Given the description of an element on the screen output the (x, y) to click on. 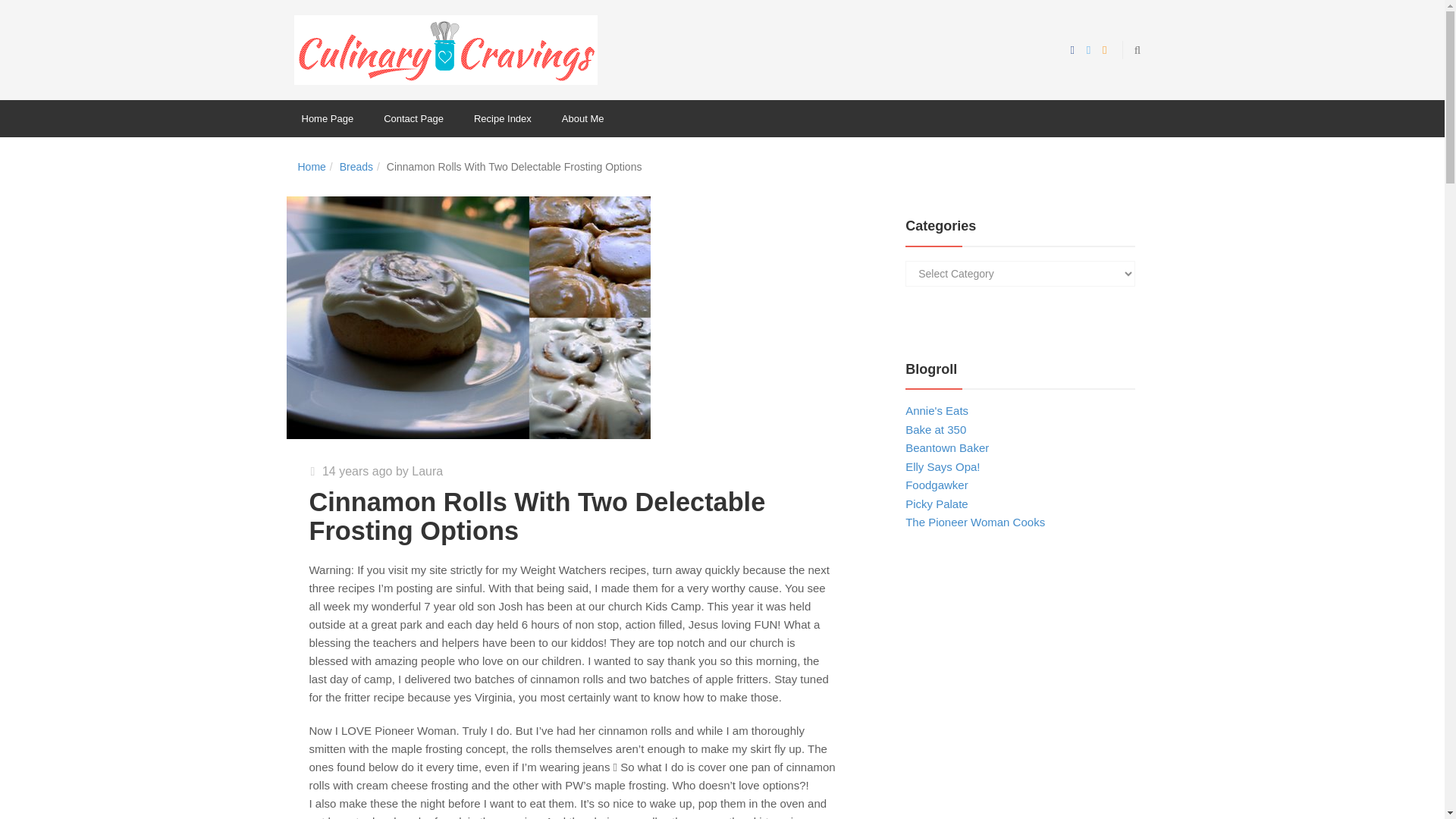
About Me (583, 118)
Contact Page (413, 118)
Home (310, 166)
Home Page (327, 118)
Laura (427, 471)
Laura's Kitchen (445, 48)
Breads (355, 166)
Recipe Index (502, 118)
Home (310, 166)
View all posts by Laura (427, 471)
